Given the description of an element on the screen output the (x, y) to click on. 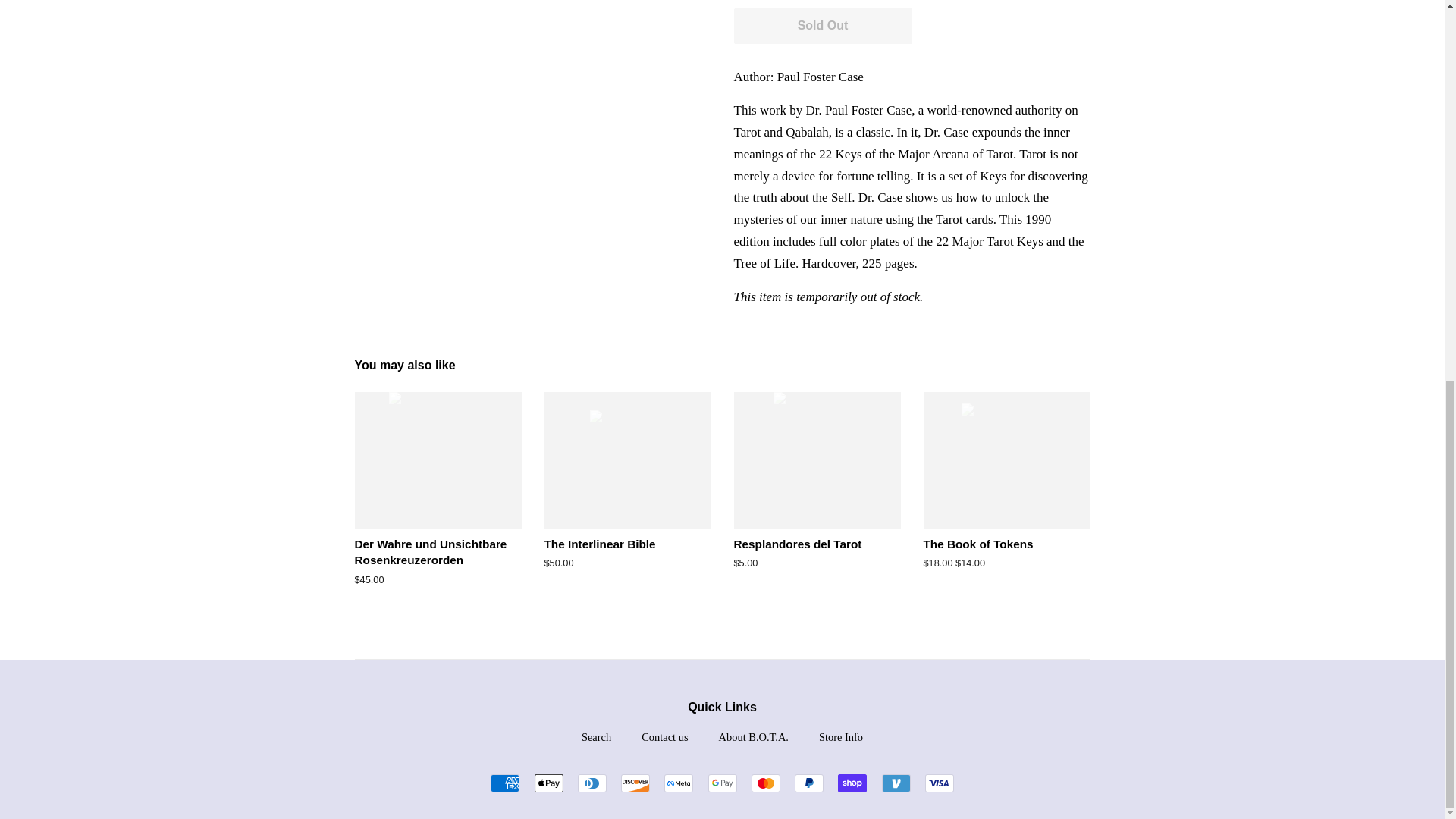
Apple Pay (548, 782)
American Express (504, 782)
Sold Out (822, 26)
Shop Pay (852, 782)
Diners Club (592, 782)
Store Info (840, 736)
Mastercard (765, 782)
Search (595, 736)
Visa (938, 782)
Contact us (664, 736)
PayPal (809, 782)
Google Pay (721, 782)
Discover (635, 782)
Venmo (895, 782)
Meta Pay (678, 782)
